Given the description of an element on the screen output the (x, y) to click on. 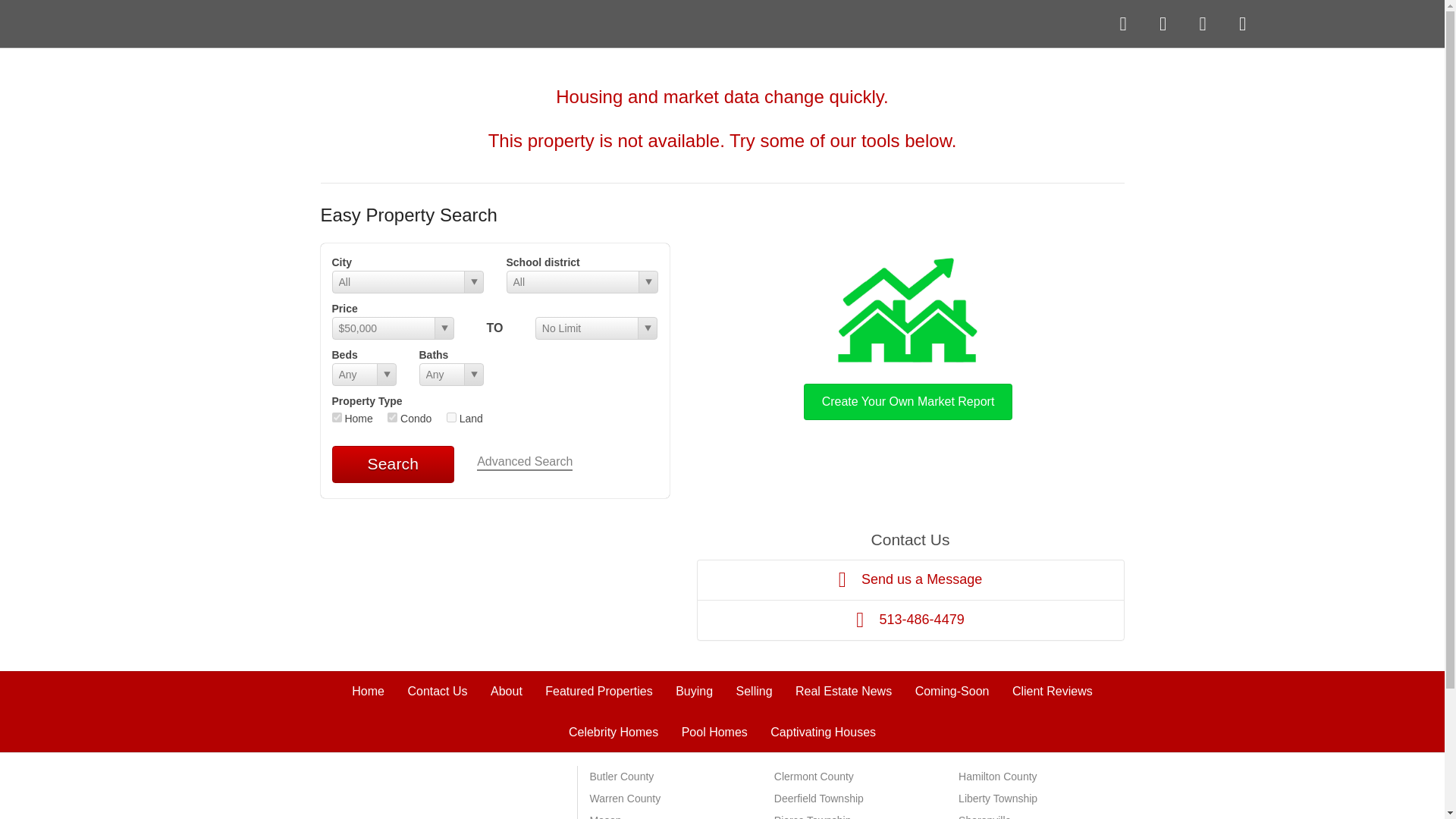
Captivating Houses (823, 731)
lnd (451, 417)
Butler County (621, 776)
Pool Homes (714, 731)
Home (368, 690)
Featured Properties (598, 690)
Coming-Soon (952, 690)
Advanced Search (524, 462)
Search (392, 463)
Buying (694, 690)
